Given the description of an element on the screen output the (x, y) to click on. 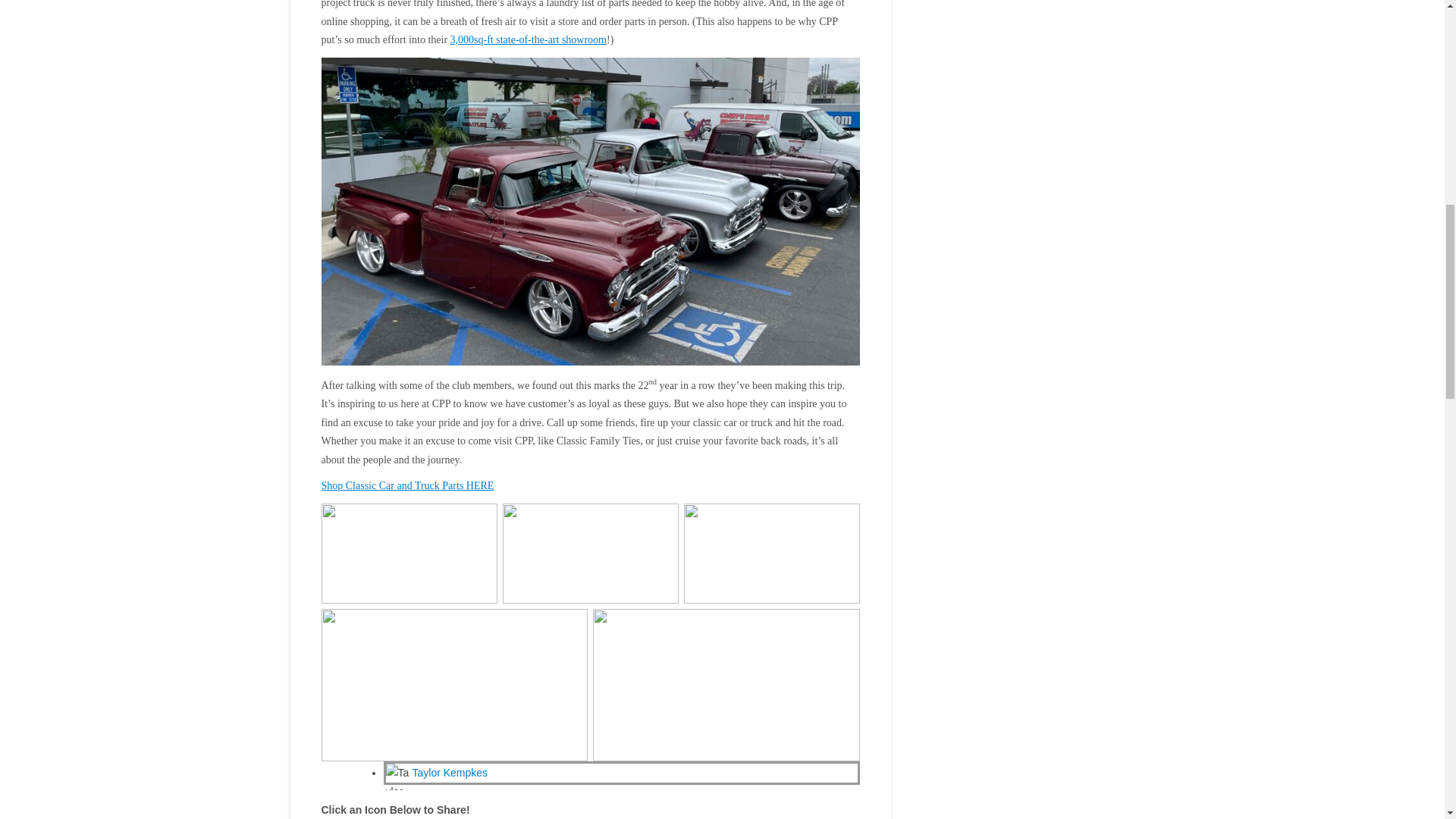
Shop Classic Car and Truck Parts HERE (408, 485)
Taylor Kempkes (449, 772)
3,000sq-ft state-of-the-art showroom (528, 39)
Taylor Kempkes (449, 772)
